Given the description of an element on the screen output the (x, y) to click on. 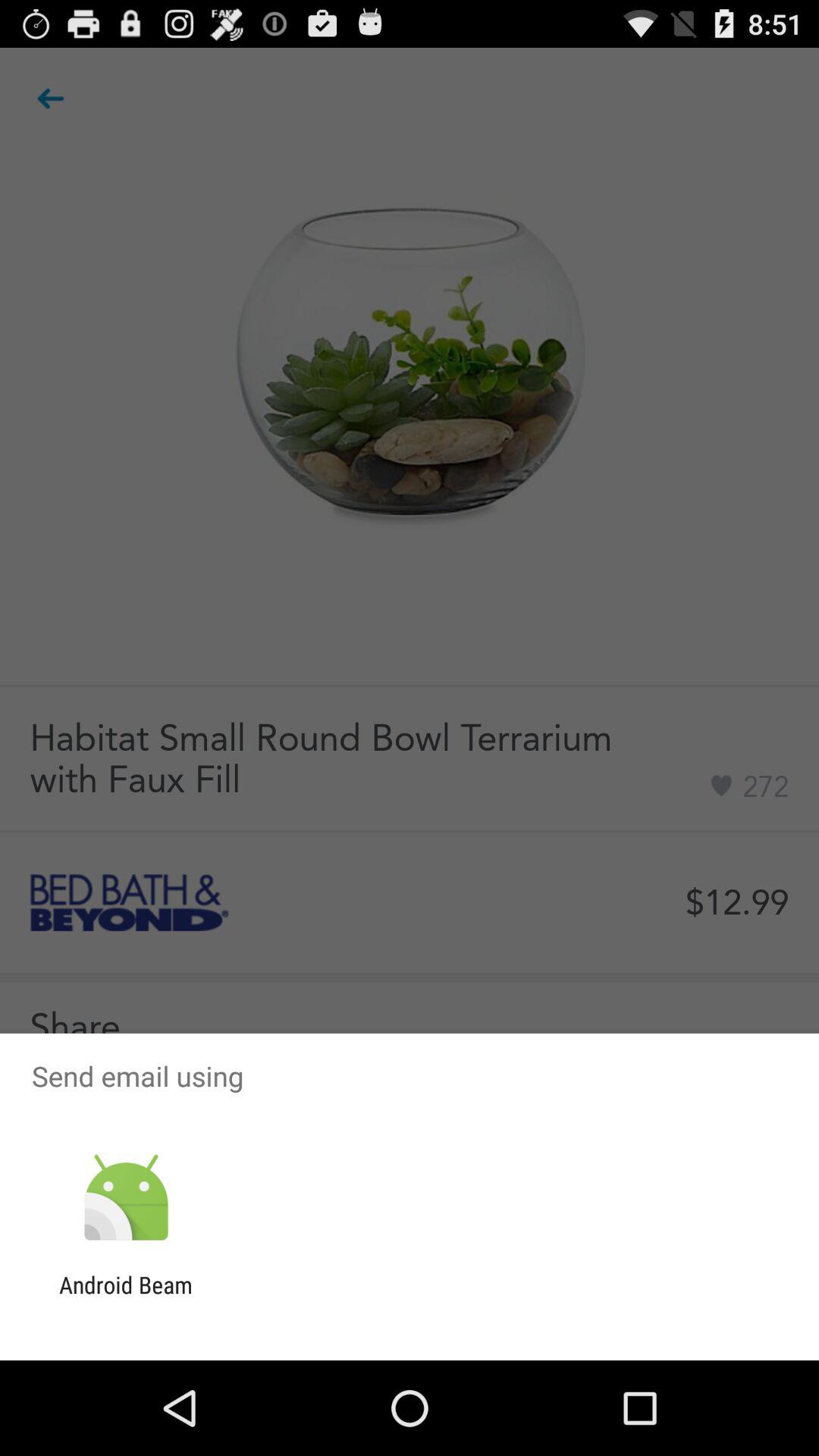
scroll until android beam (125, 1298)
